Given the description of an element on the screen output the (x, y) to click on. 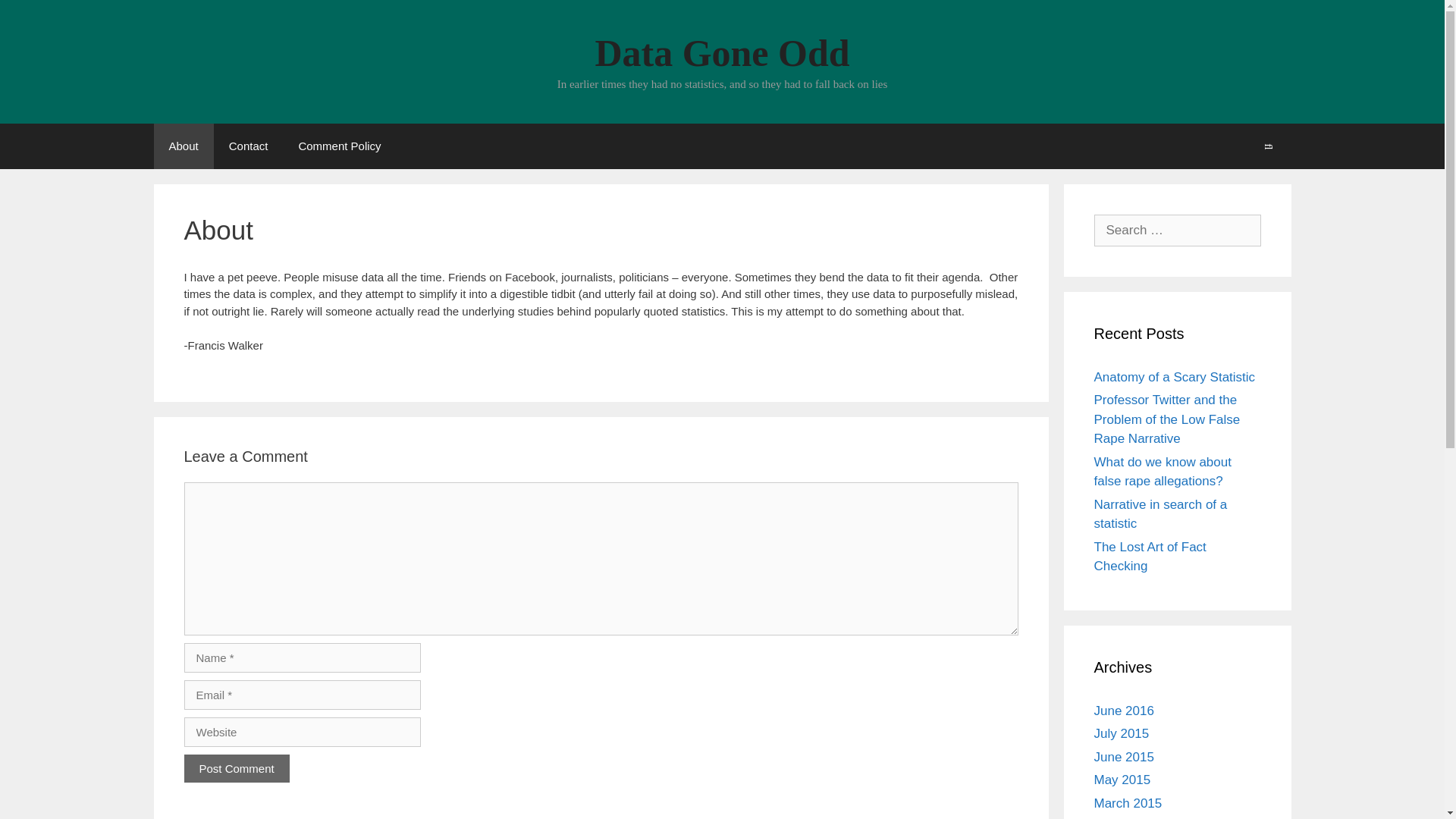
June 2016 (1123, 710)
Comment Policy (339, 145)
Narrative in search of a statistic (1160, 514)
May 2015 (1121, 780)
Search (1268, 145)
Post Comment (235, 767)
Search (35, 15)
About (182, 145)
Post Comment (235, 767)
March 2015 (1127, 803)
Contact (248, 145)
Data Gone Odd (721, 52)
July 2015 (1120, 733)
What do we know about false rape allegations? (1161, 471)
June 2015 (1123, 756)
